Given the description of an element on the screen output the (x, y) to click on. 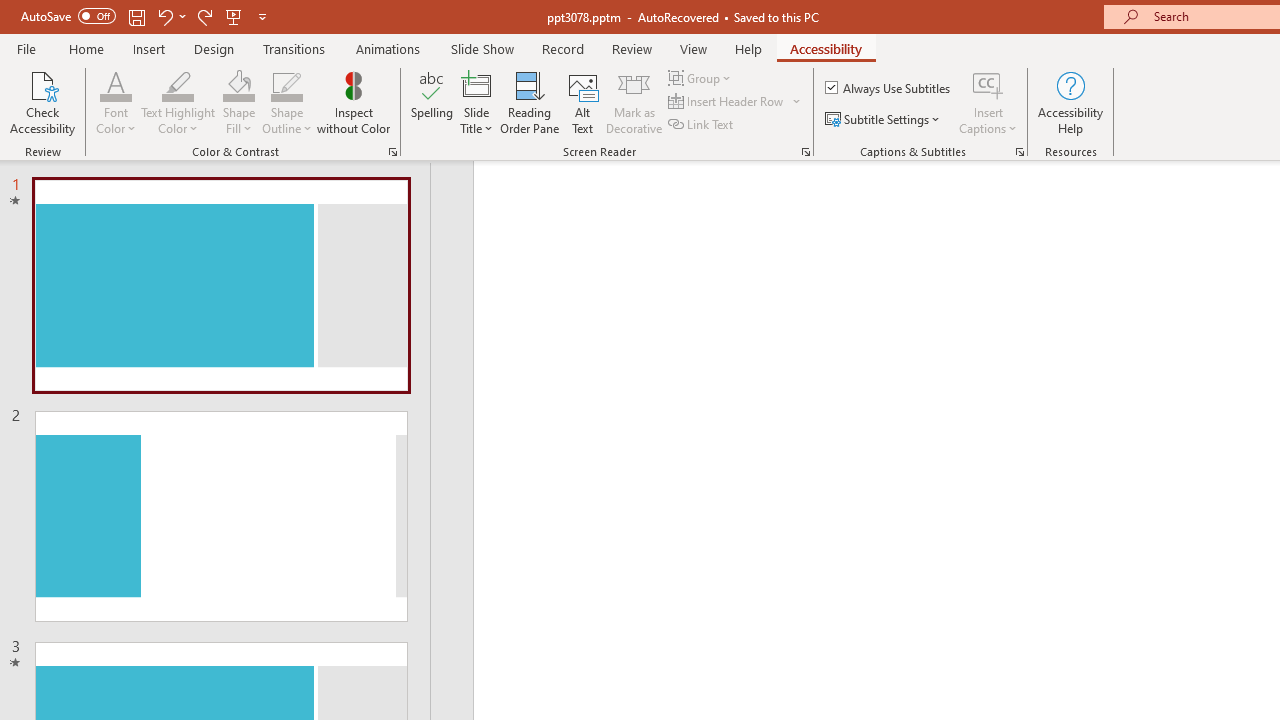
Subtitle Settings (884, 119)
Always Use Subtitles (889, 87)
